Given the description of an element on the screen output the (x, y) to click on. 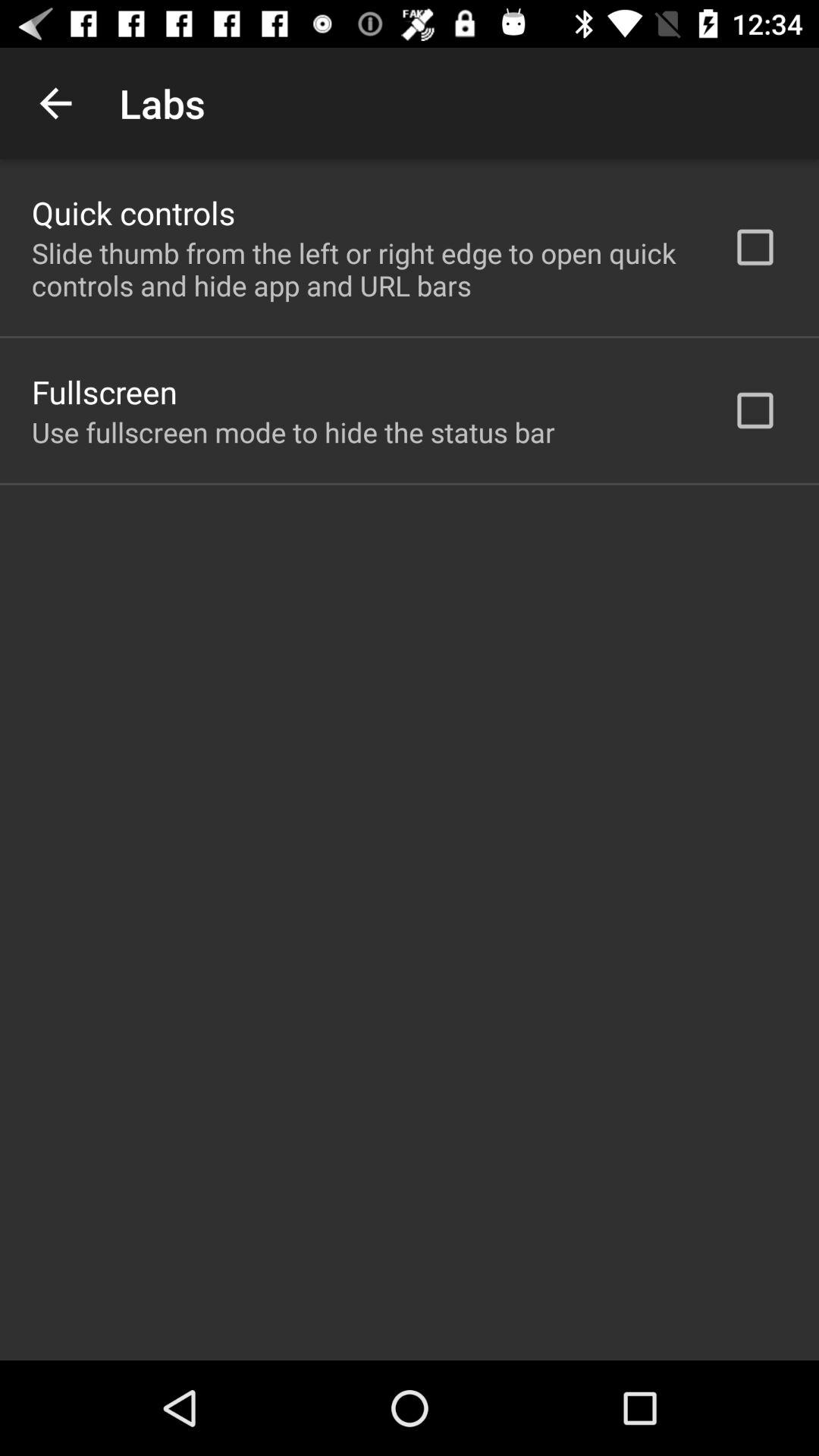
tap the use fullscreen mode icon (293, 432)
